Given the description of an element on the screen output the (x, y) to click on. 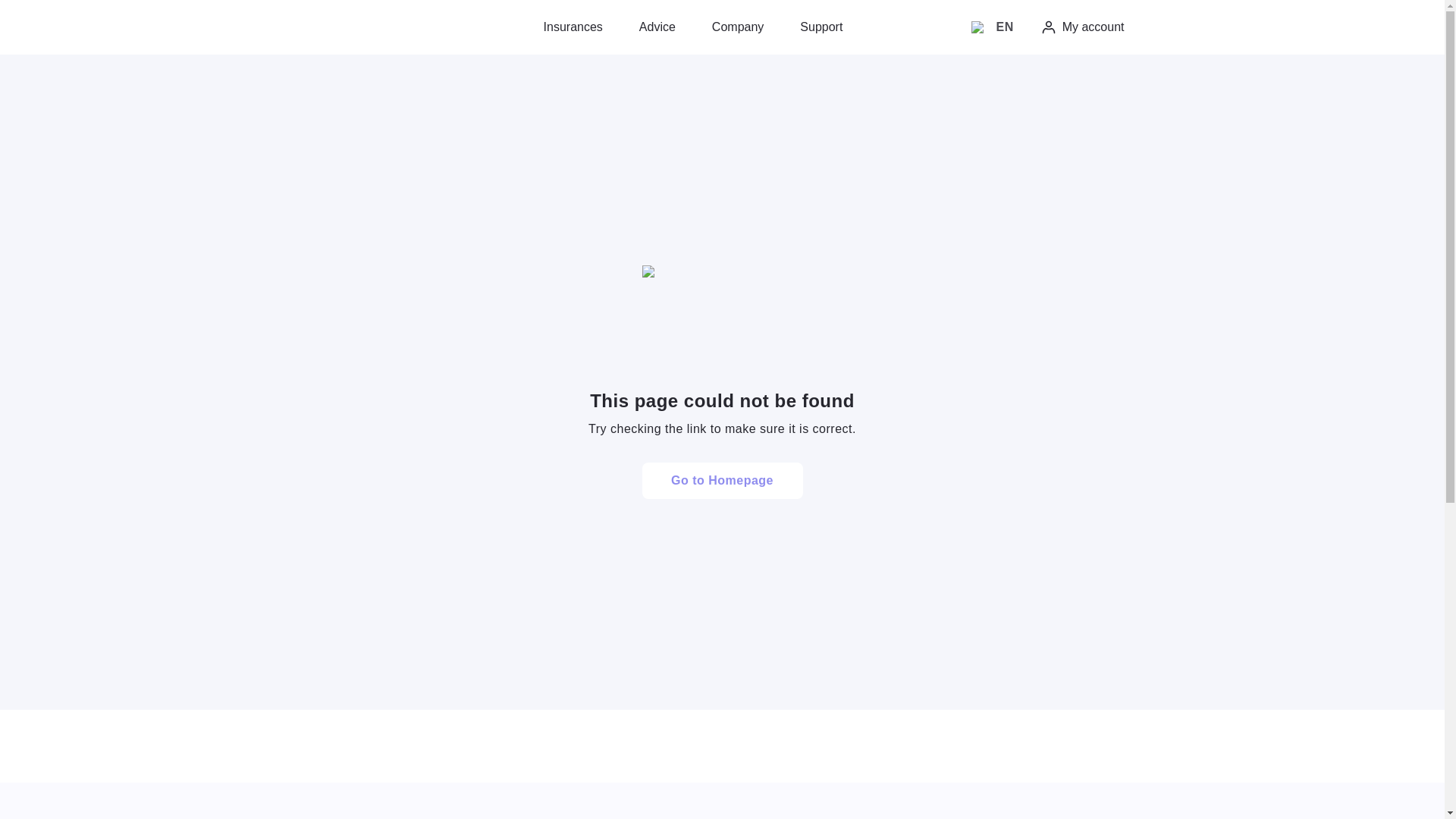
EN (992, 26)
Insurances (572, 27)
Company (736, 27)
My account (1082, 27)
Go to Homepage (722, 480)
